Given the description of an element on the screen output the (x, y) to click on. 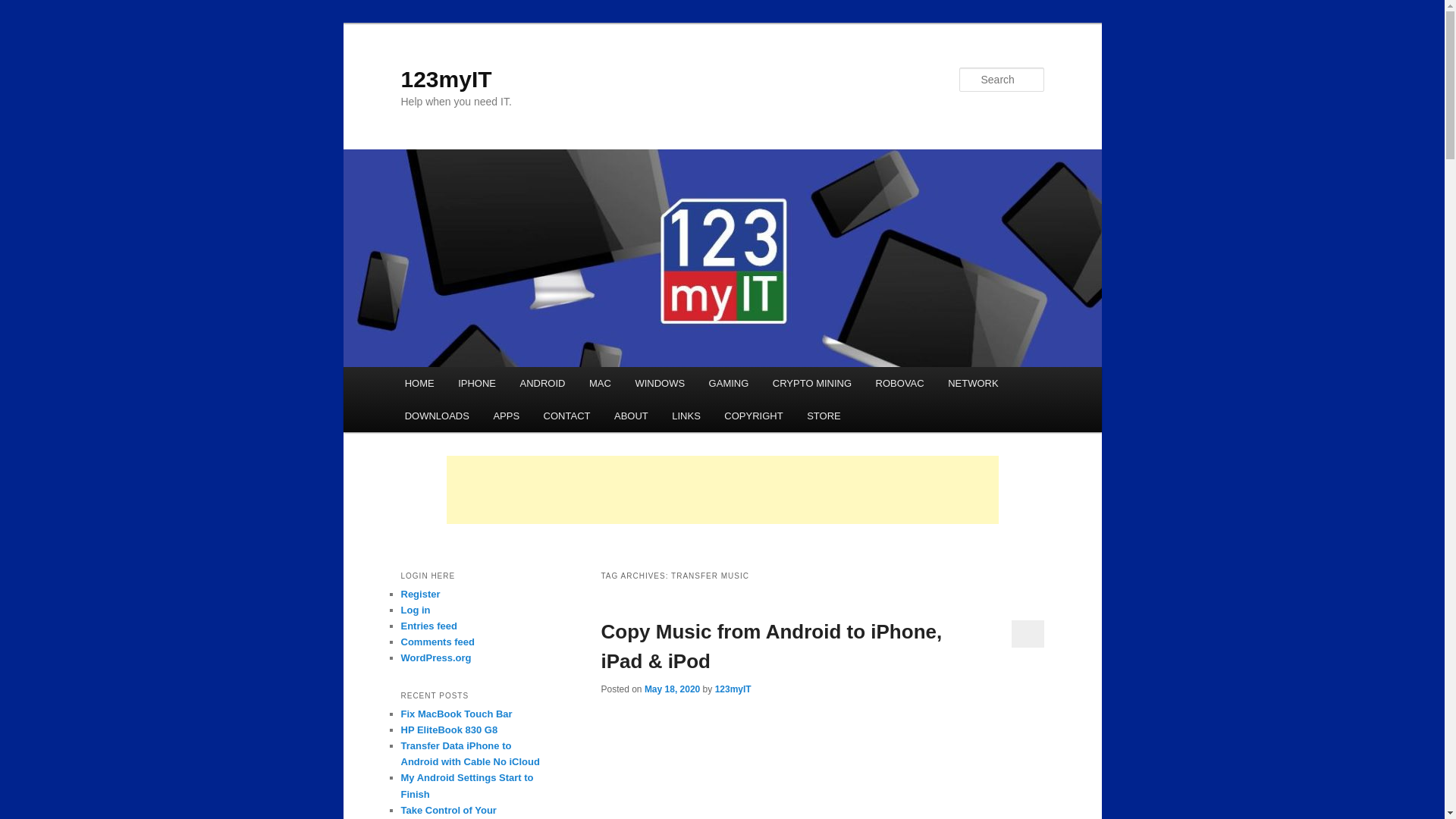
11:31 pm (672, 688)
ROBOVAC (899, 382)
123myIT (446, 78)
ANDROID (542, 382)
MAC (599, 382)
May 18, 2020 (672, 688)
Search (24, 8)
ABOUT (630, 415)
CONTACT (566, 415)
